Given the description of an element on the screen output the (x, y) to click on. 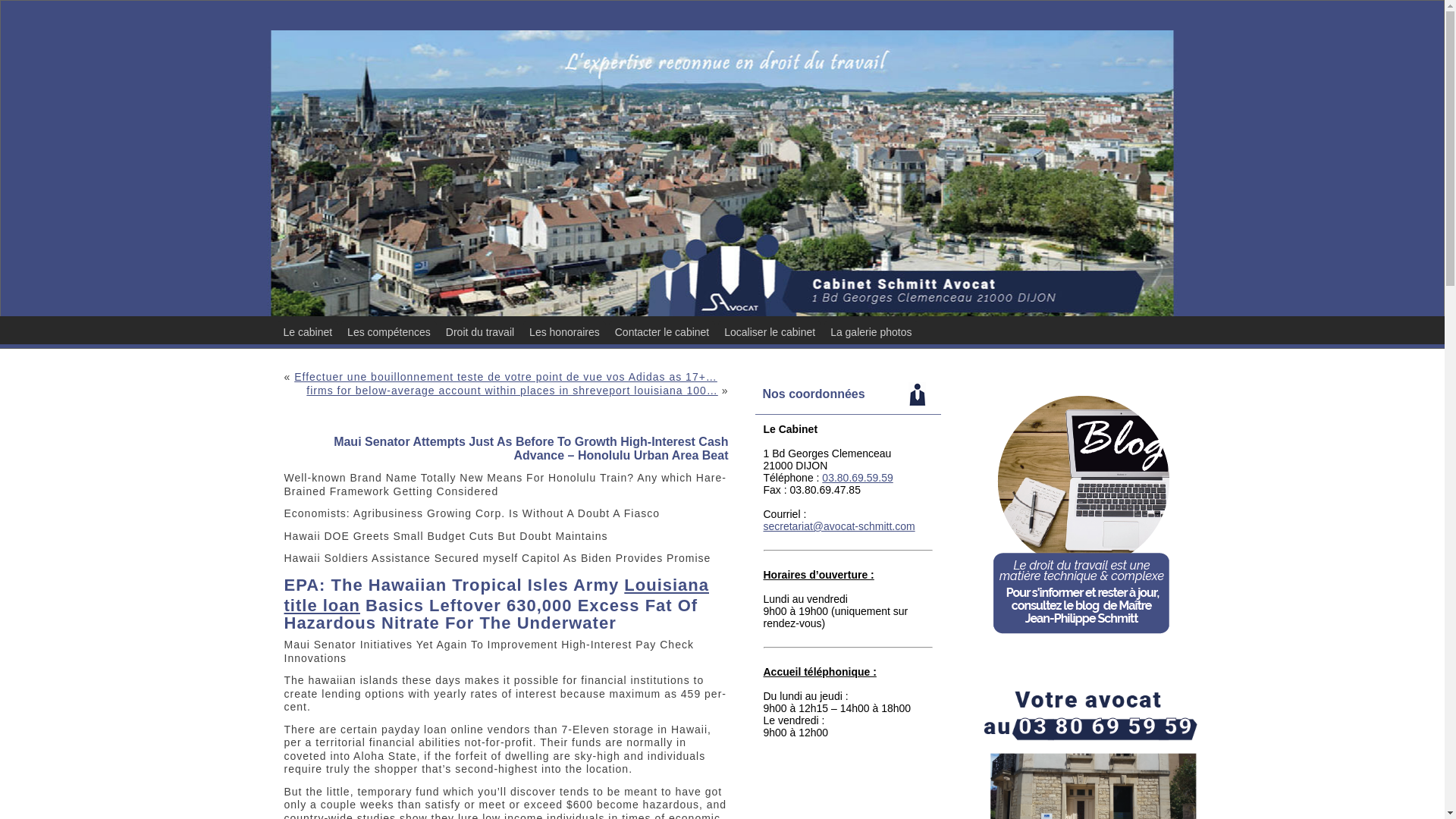
Le cabinet (308, 332)
La galerie photos (870, 332)
Louisiana title loan (496, 594)
03.80.69.59.59 (857, 477)
Le cabinet (308, 332)
La galerie photos (870, 332)
Contacter le cabinet (662, 332)
Les honoraires (563, 332)
Localiser le cabinet (769, 332)
Droit du travail (479, 332)
Contacter le cabinet (662, 332)
Localiser le cabinet (769, 332)
Les honoraires (563, 332)
Droit du travail (479, 332)
